Given the description of an element on the screen output the (x, y) to click on. 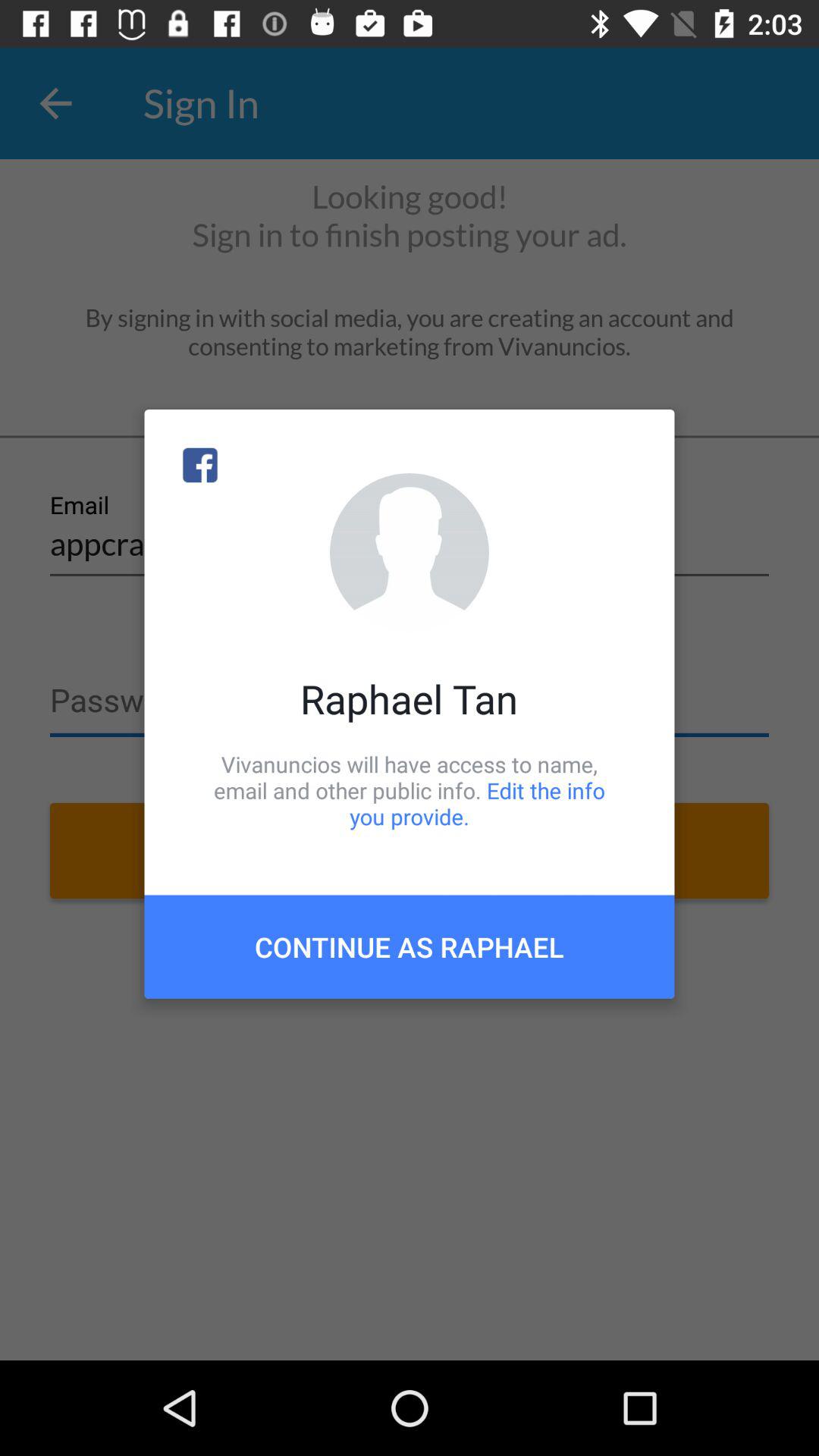
select item below vivanuncios will have (409, 946)
